Given the description of an element on the screen output the (x, y) to click on. 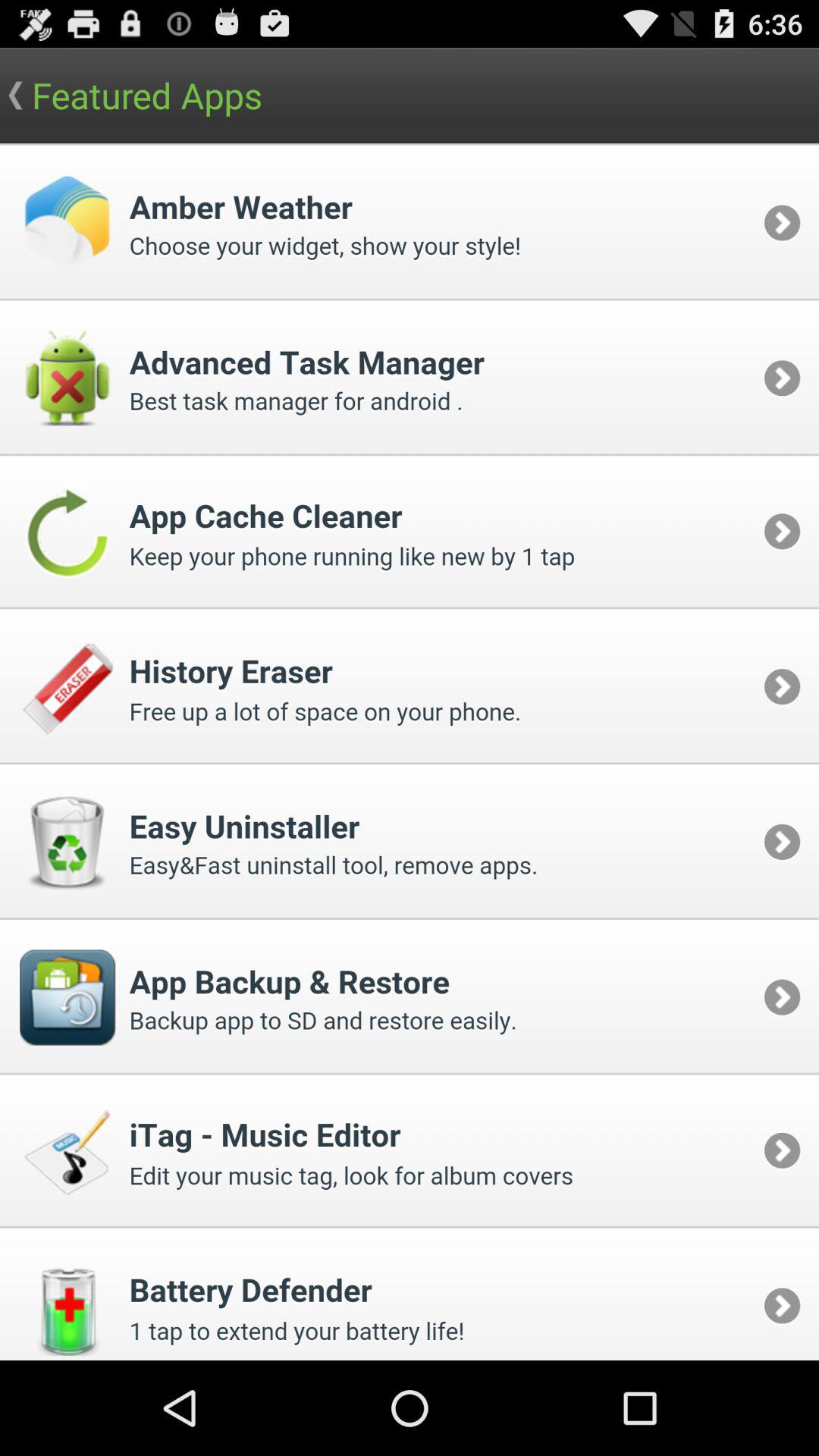
featured apps menu (409, 751)
